Given the description of an element on the screen output the (x, y) to click on. 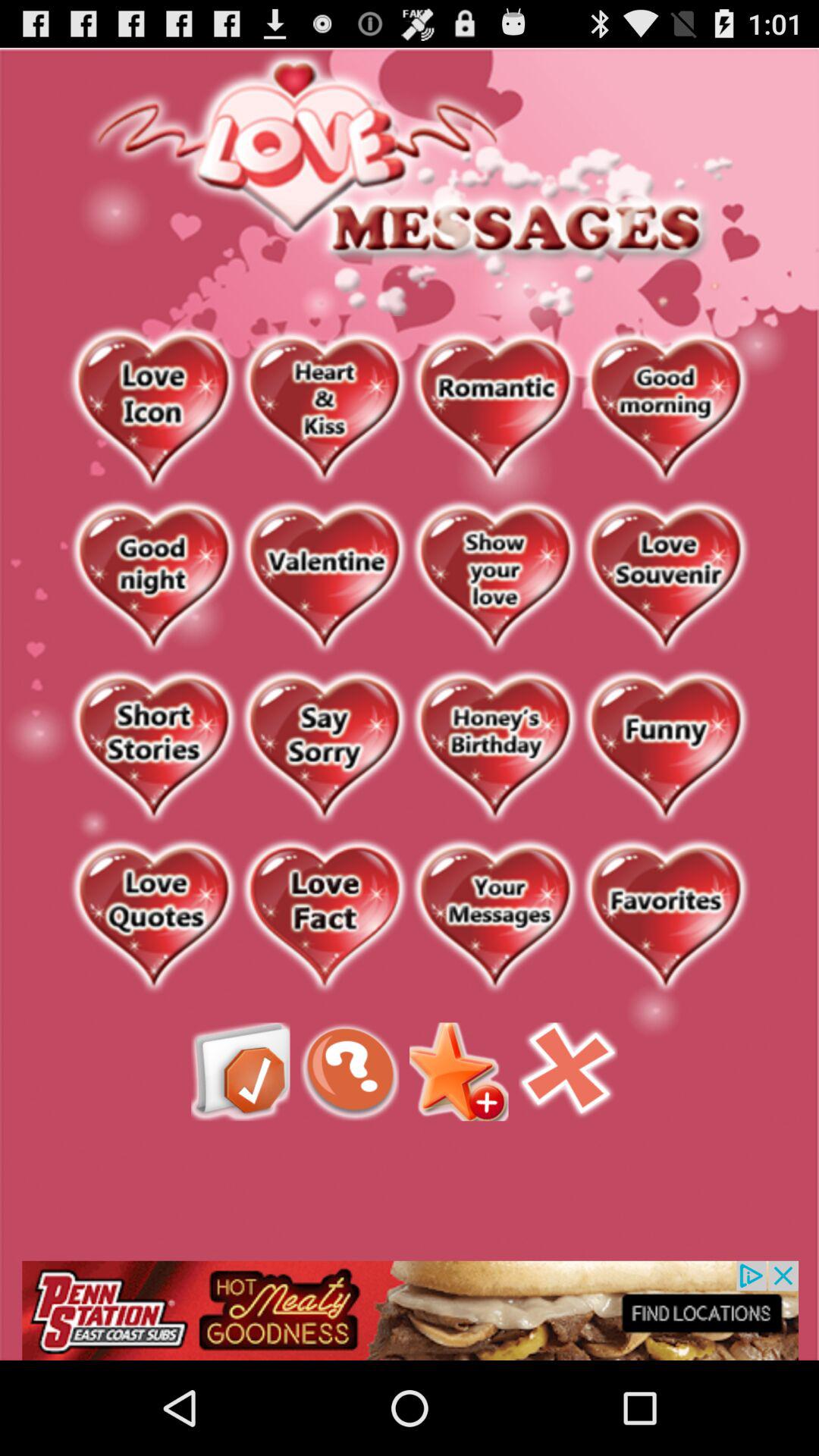
open the specific page (153, 408)
